Given the description of an element on the screen output the (x, y) to click on. 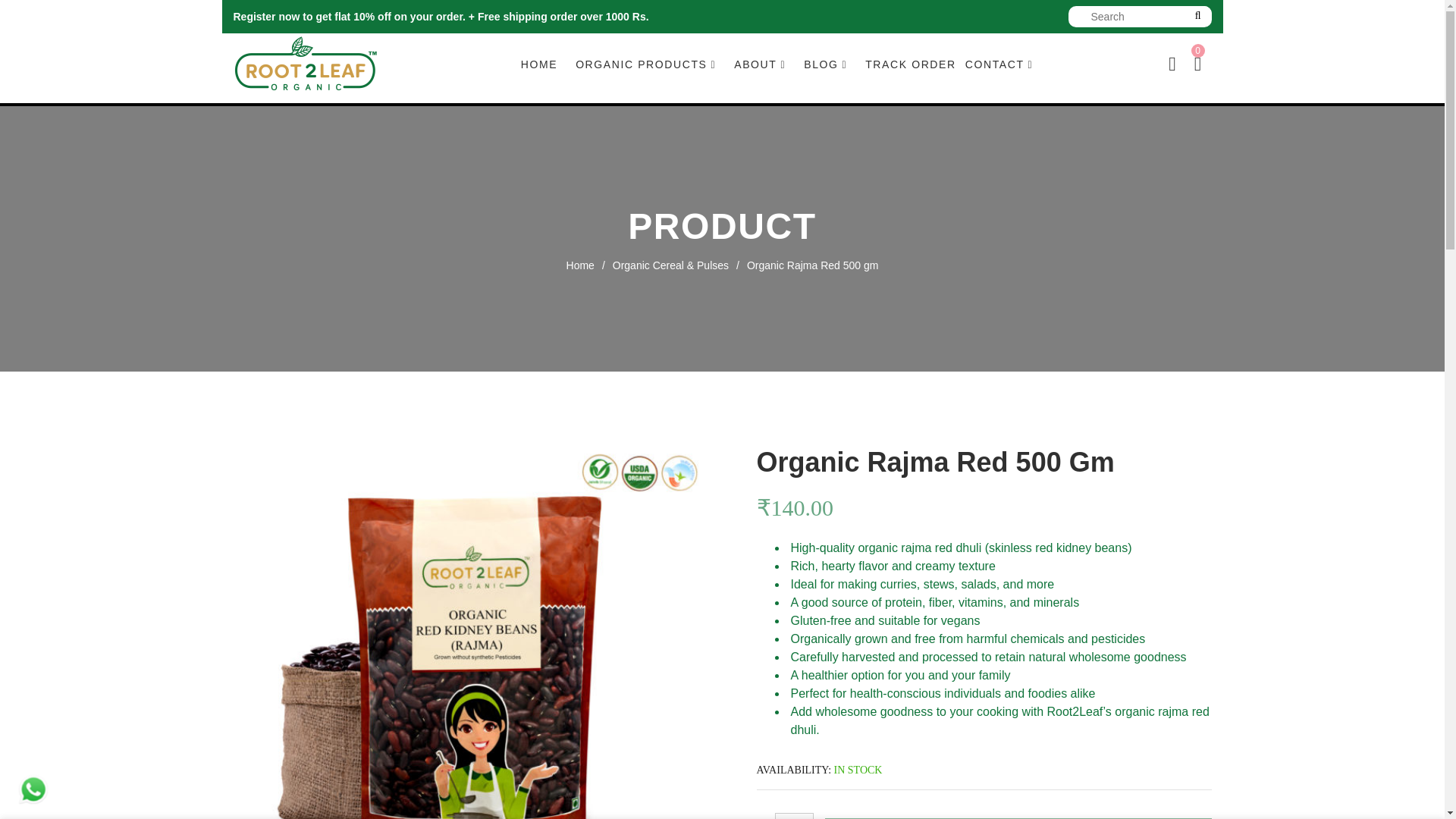
Organic Products by Root2Leaf Organic (645, 63)
1 (793, 816)
Home (589, 264)
CONTACT (999, 63)
ABOUT (759, 63)
ORGANIC PRODUCTS (645, 63)
TRACK ORDER (910, 63)
